Given the description of an element on the screen output the (x, y) to click on. 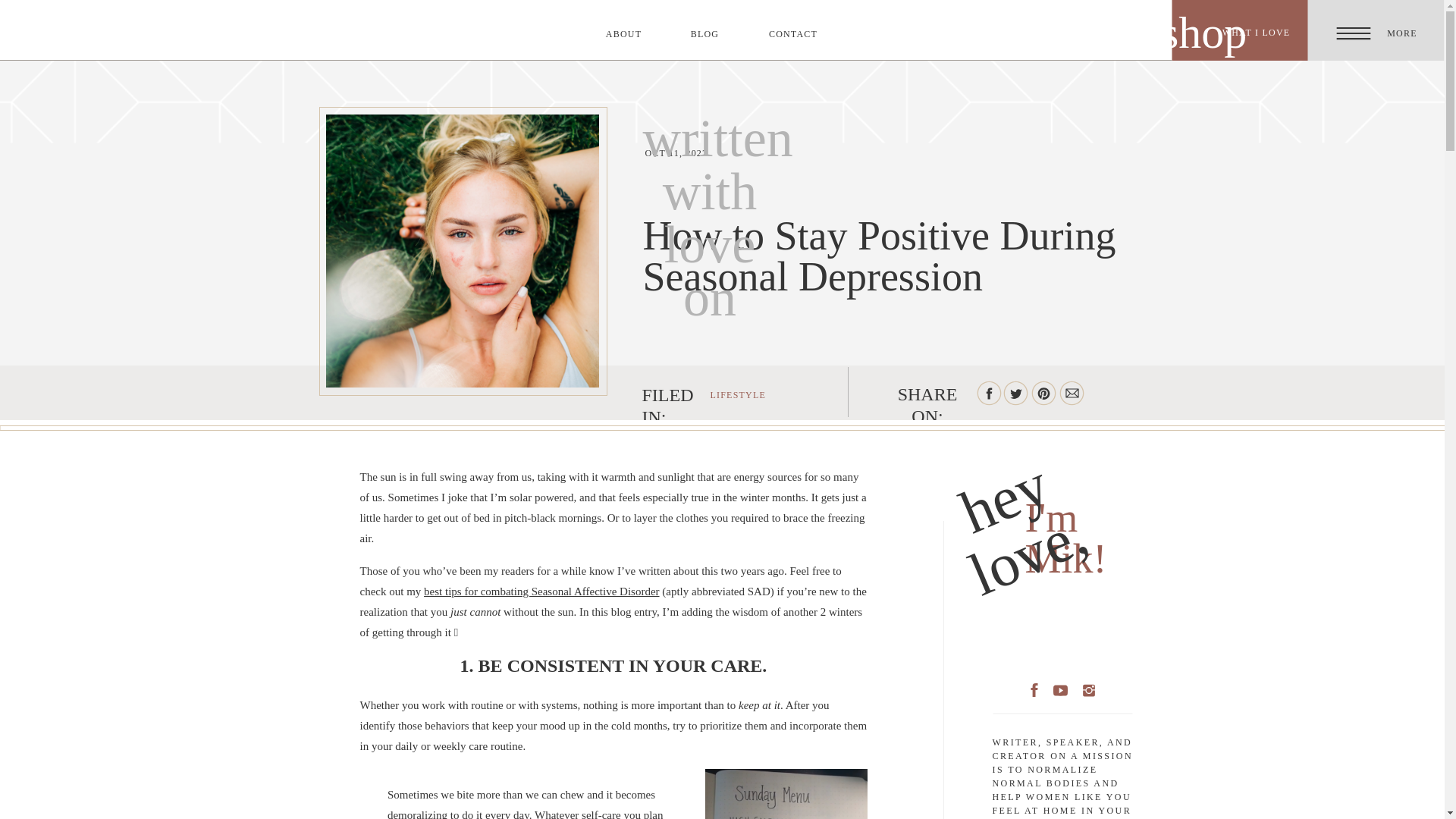
How to Stay Positive During Seasonal Depression (462, 250)
How to Stay Positive During Seasonal Depression (988, 392)
shop (1198, 24)
How to Stay Positive During Seasonal Depression (1042, 392)
How to Stay Positive During Seasonal Depression (927, 391)
How to Stay Positive During Seasonal Depression (1071, 392)
best tips for combating Seasonal Affective Disorder (541, 591)
CONTACT (792, 34)
BLOG (704, 34)
SHARE ON: (927, 391)
LIFESTYLE (737, 394)
ABOUT (624, 34)
How to Stay Positive During Seasonal Depression (1015, 392)
WHAT I LOVE (1256, 32)
